Given the description of an element on the screen output the (x, y) to click on. 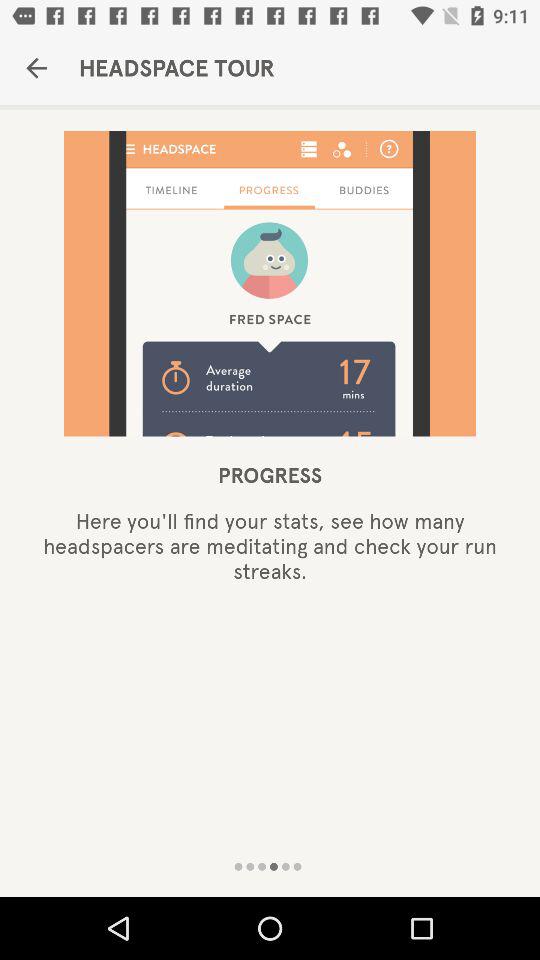
tap the icon next to headspace tour (36, 68)
